Given the description of an element on the screen output the (x, y) to click on. 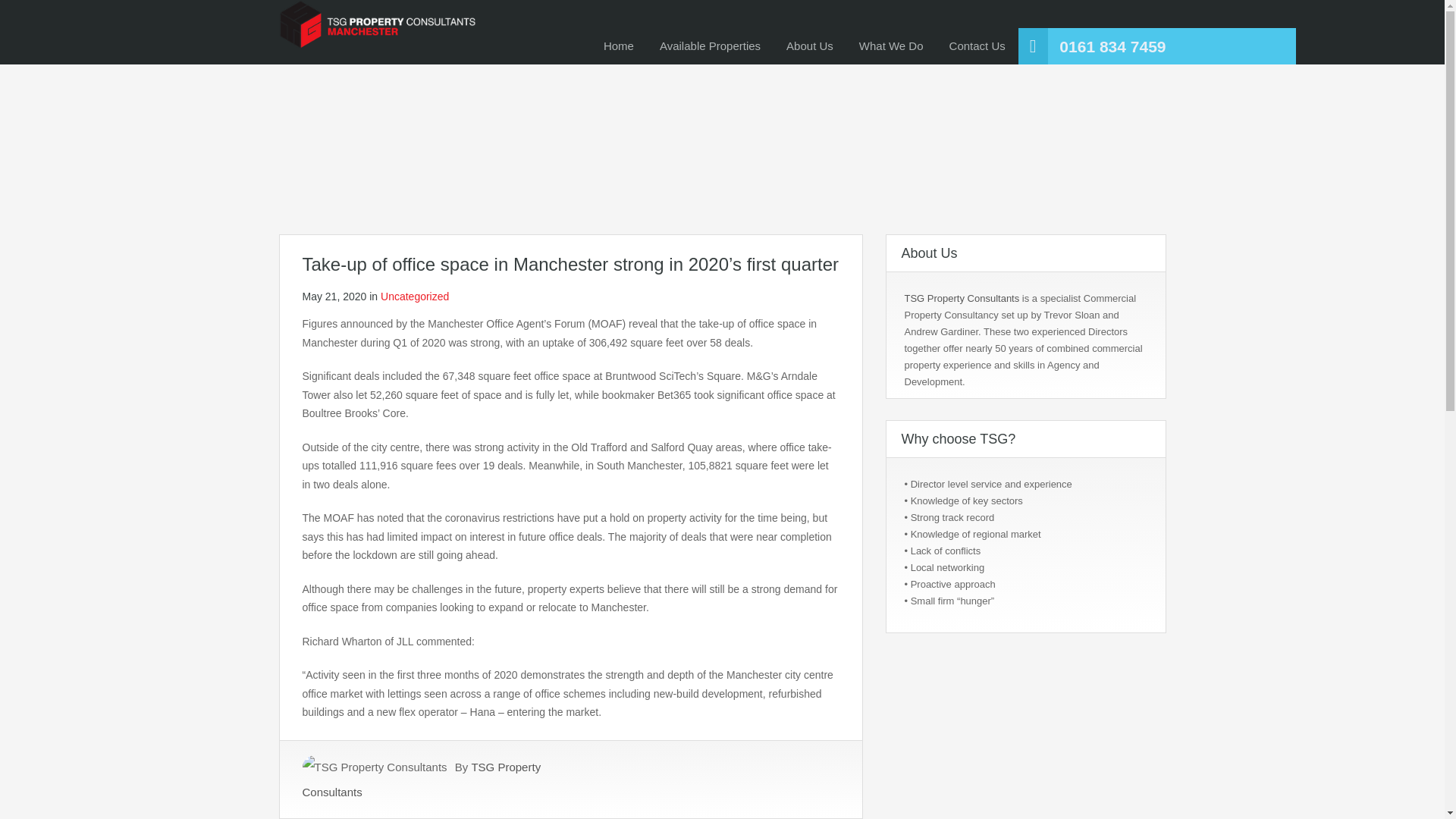
Contact Us (976, 45)
Available Properties (709, 45)
TSG Property Manchester (377, 32)
0161 834 7459 (1112, 46)
About Us (809, 45)
Home (618, 45)
TSG Property Consultants (420, 779)
What We Do (890, 45)
Uncategorized (414, 296)
Make a Call (1112, 46)
